Given the description of an element on the screen output the (x, y) to click on. 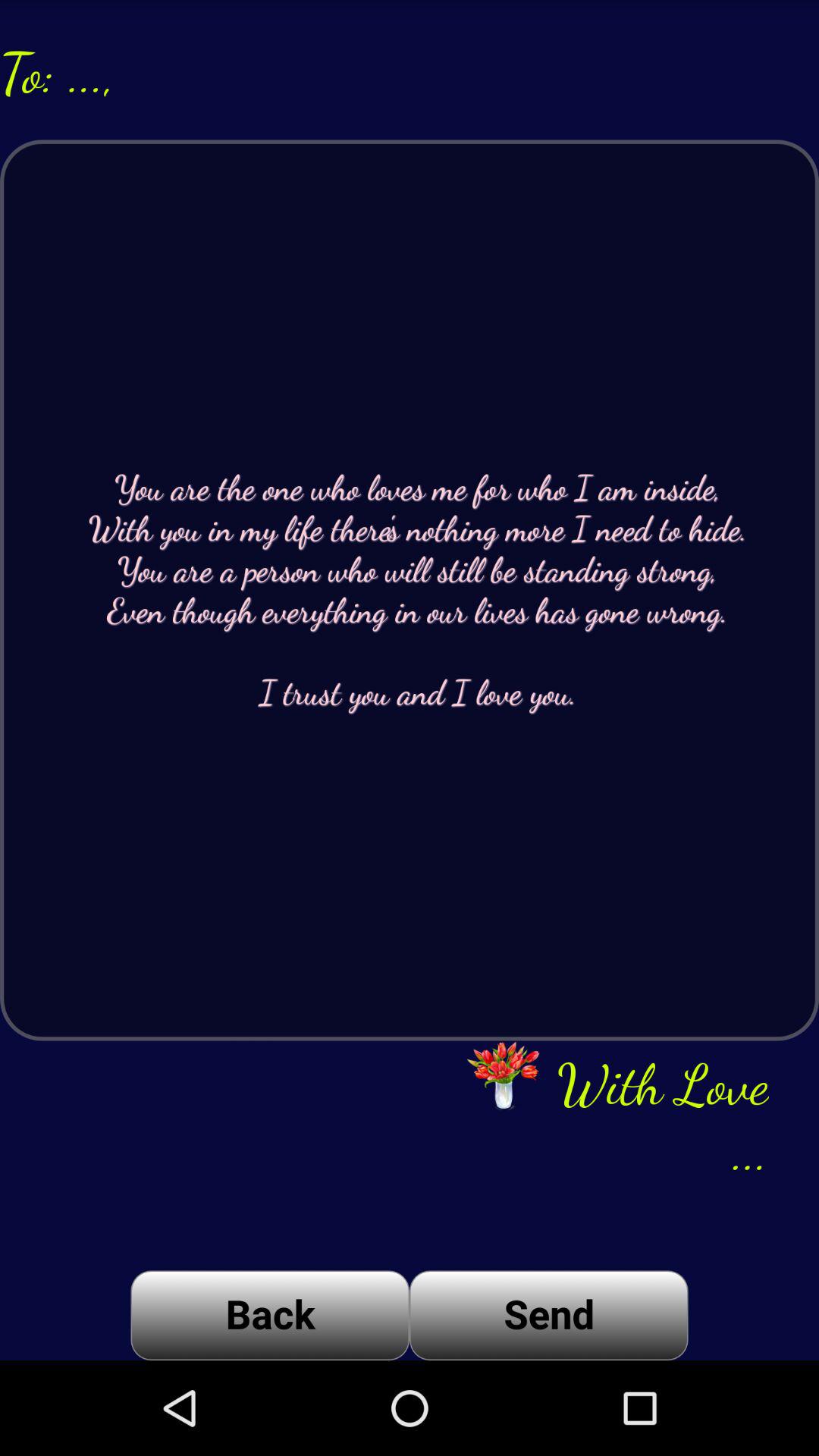
select icon at the center (409, 589)
